Given the description of an element on the screen output the (x, y) to click on. 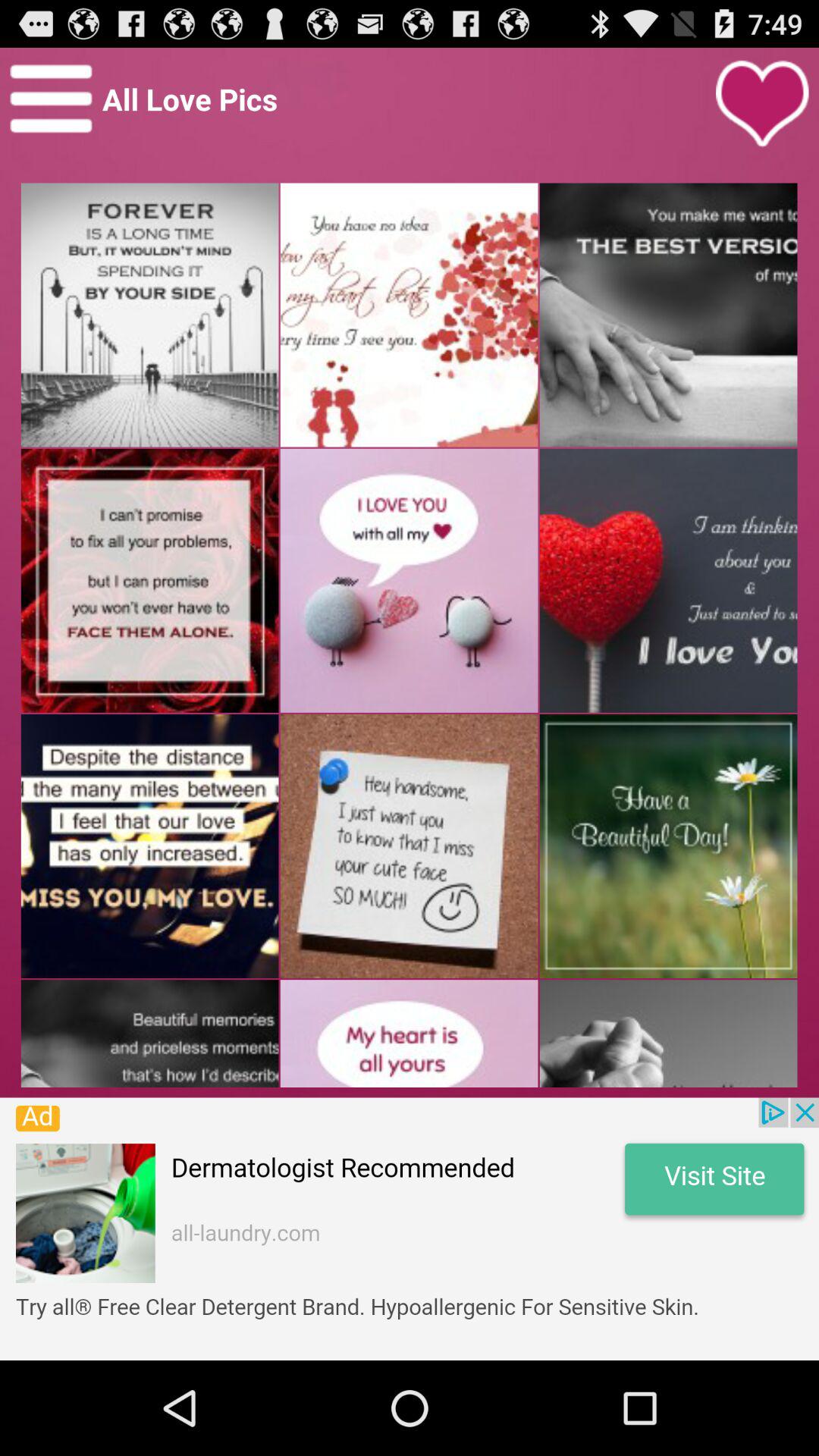
favorite it (762, 104)
